Given the description of an element on the screen output the (x, y) to click on. 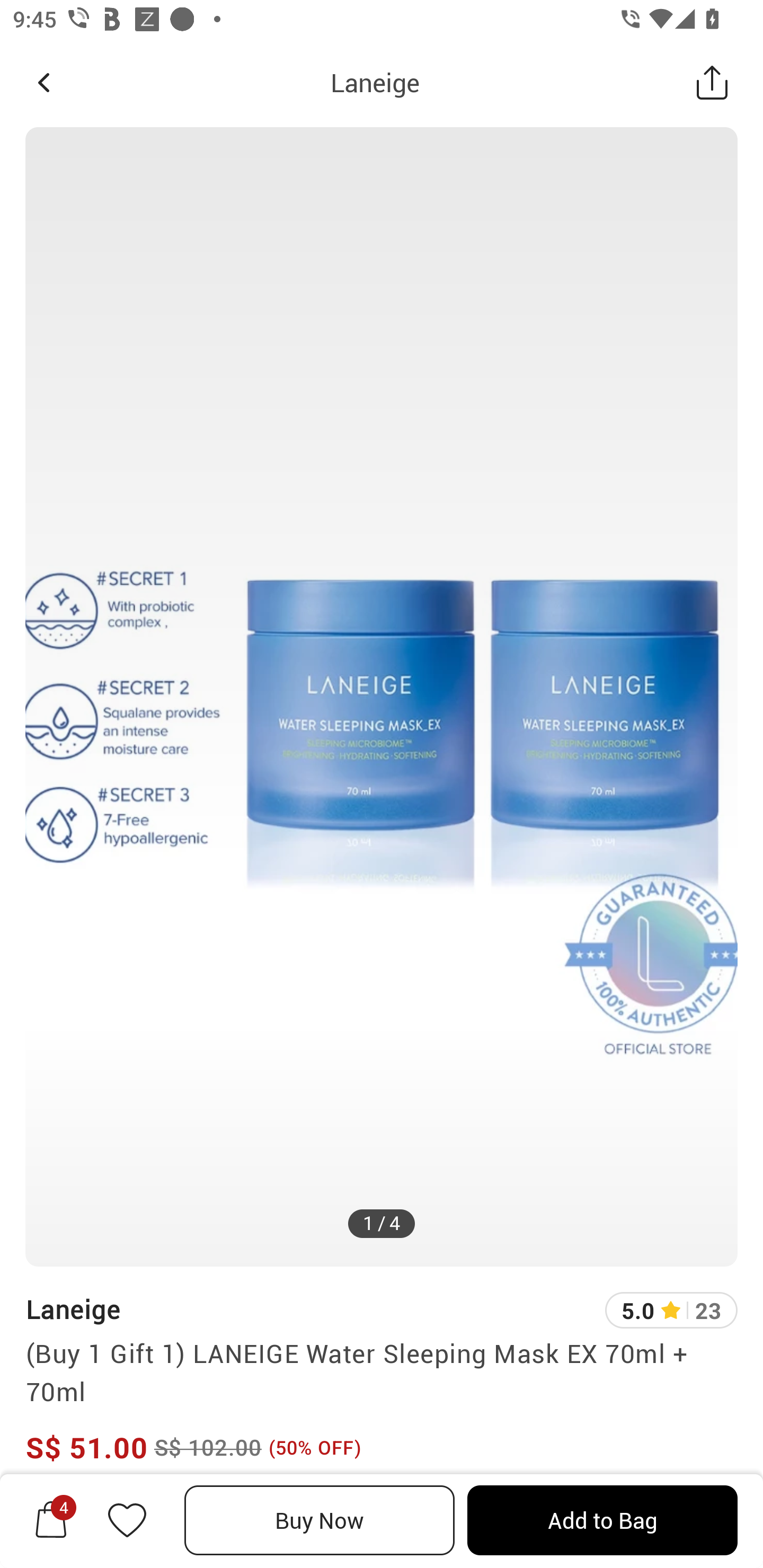
Laneige (375, 82)
Share this Product (711, 82)
Laneige (72, 1309)
5.0 23 (671, 1310)
Buy Now (319, 1519)
Add to Bag (601, 1519)
4 (50, 1520)
